Given the description of an element on the screen output the (x, y) to click on. 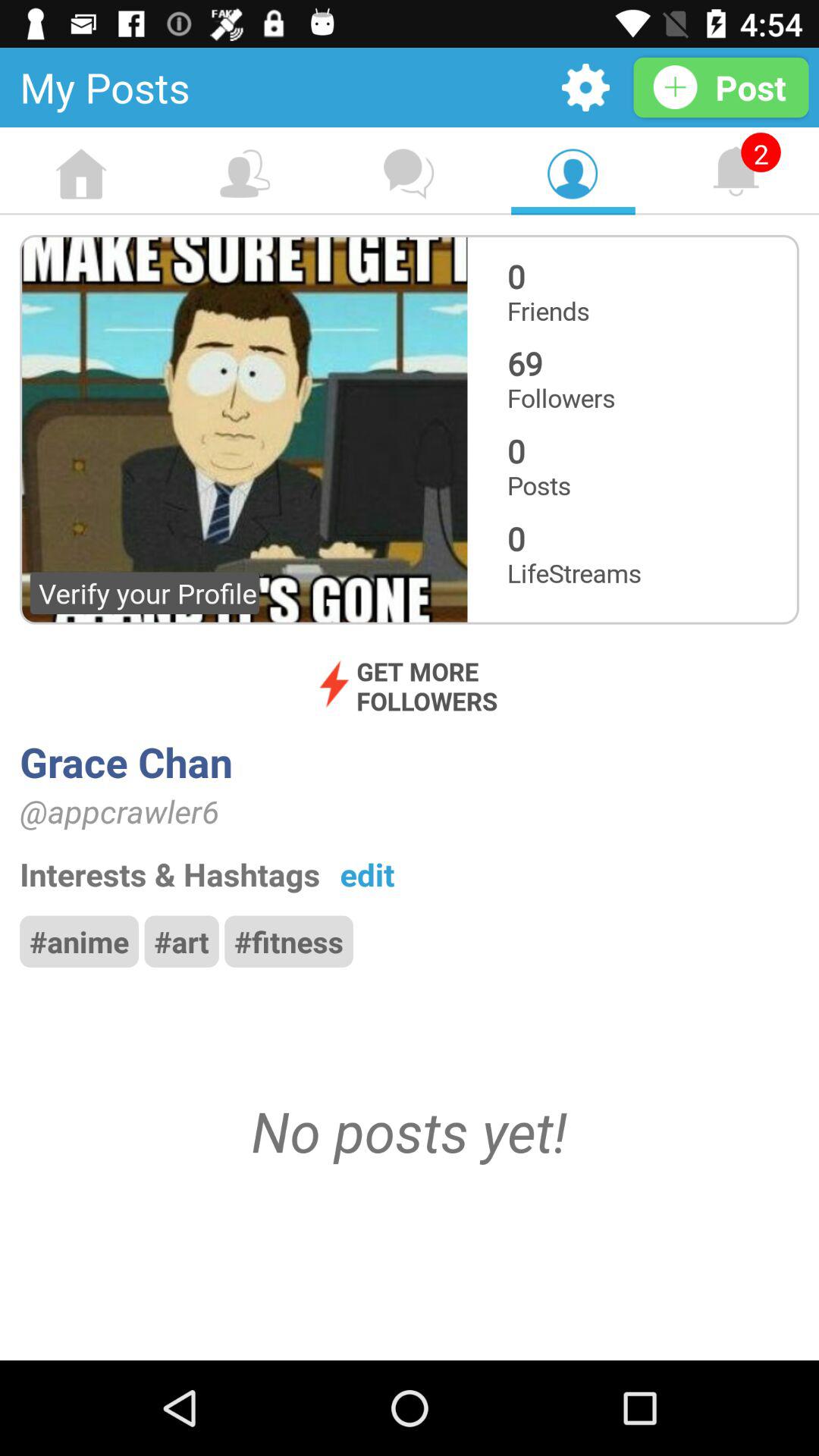
open icon next to the #art (78, 941)
